Given the description of an element on the screen output the (x, y) to click on. 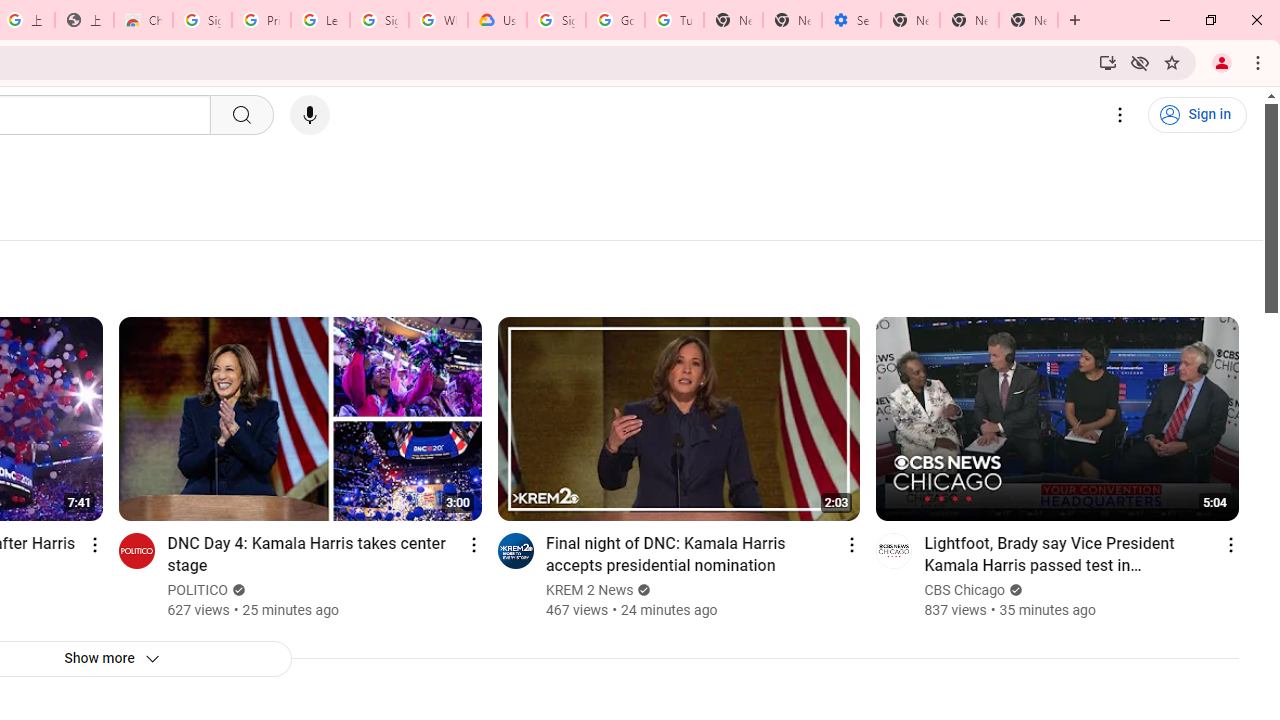
Sign in - Google Accounts (379, 20)
Turn cookies on or off - Computer - Google Account Help (674, 20)
Verified (1014, 590)
Settings - Addresses and more (850, 20)
Who are Google's partners? - Privacy and conditions - Google (438, 20)
POLITICO (198, 590)
CBS Chicago (965, 590)
